Given the description of an element on the screen output the (x, y) to click on. 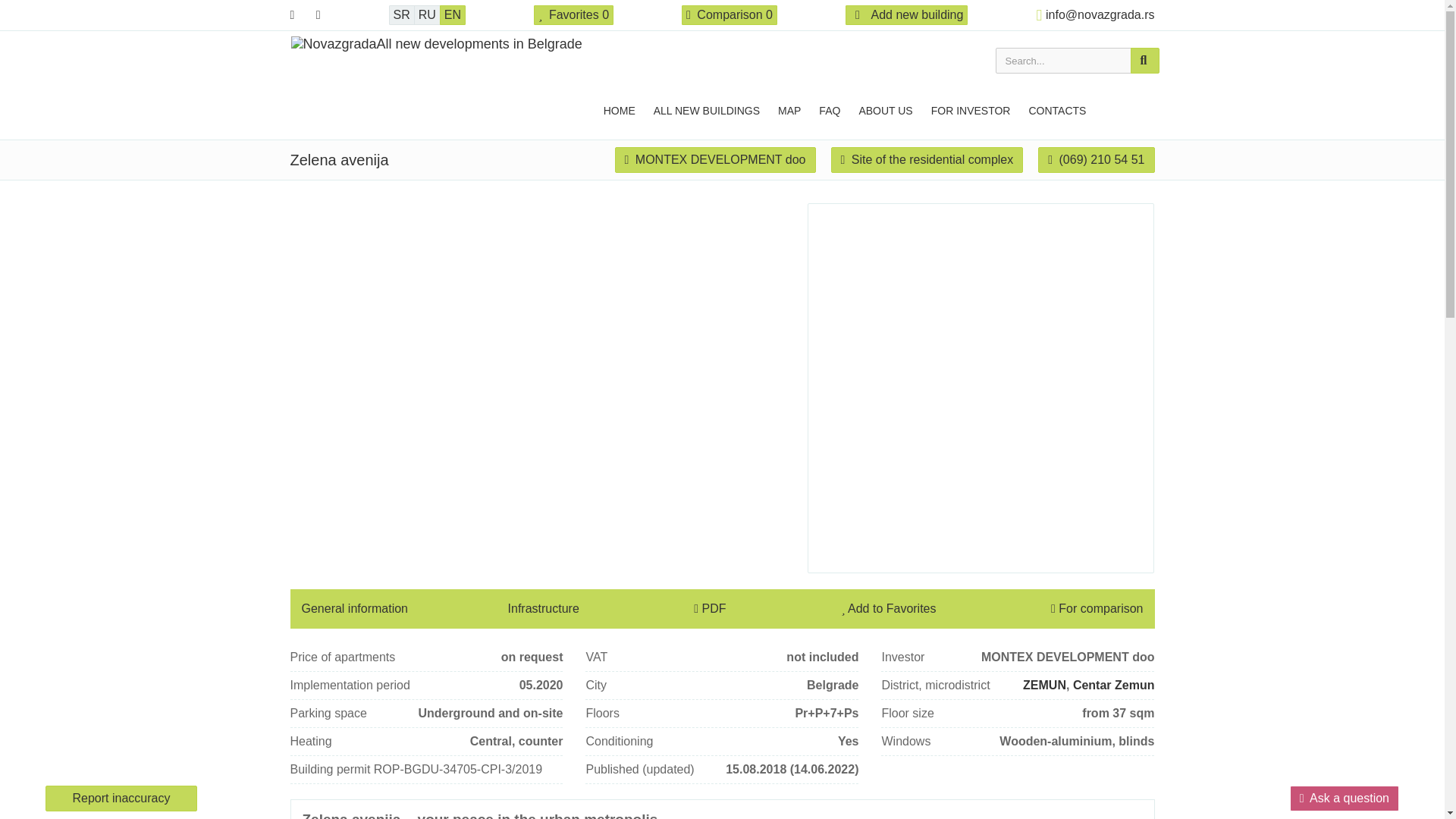
Facebook (291, 14)
MAP (788, 109)
FOR INVESTOR (970, 109)
Comparison 0 (729, 14)
Favorites 0 (573, 14)
HOME (619, 109)
ABOUT US (884, 109)
ALL NEW BUILDINGS (706, 109)
EN (452, 14)
Site of the residential complex (927, 159)
search (1143, 60)
FAQ (828, 109)
RU (427, 14)
Instagram (317, 14)
CONTACTS (1056, 109)
